Given the description of an element on the screen output the (x, y) to click on. 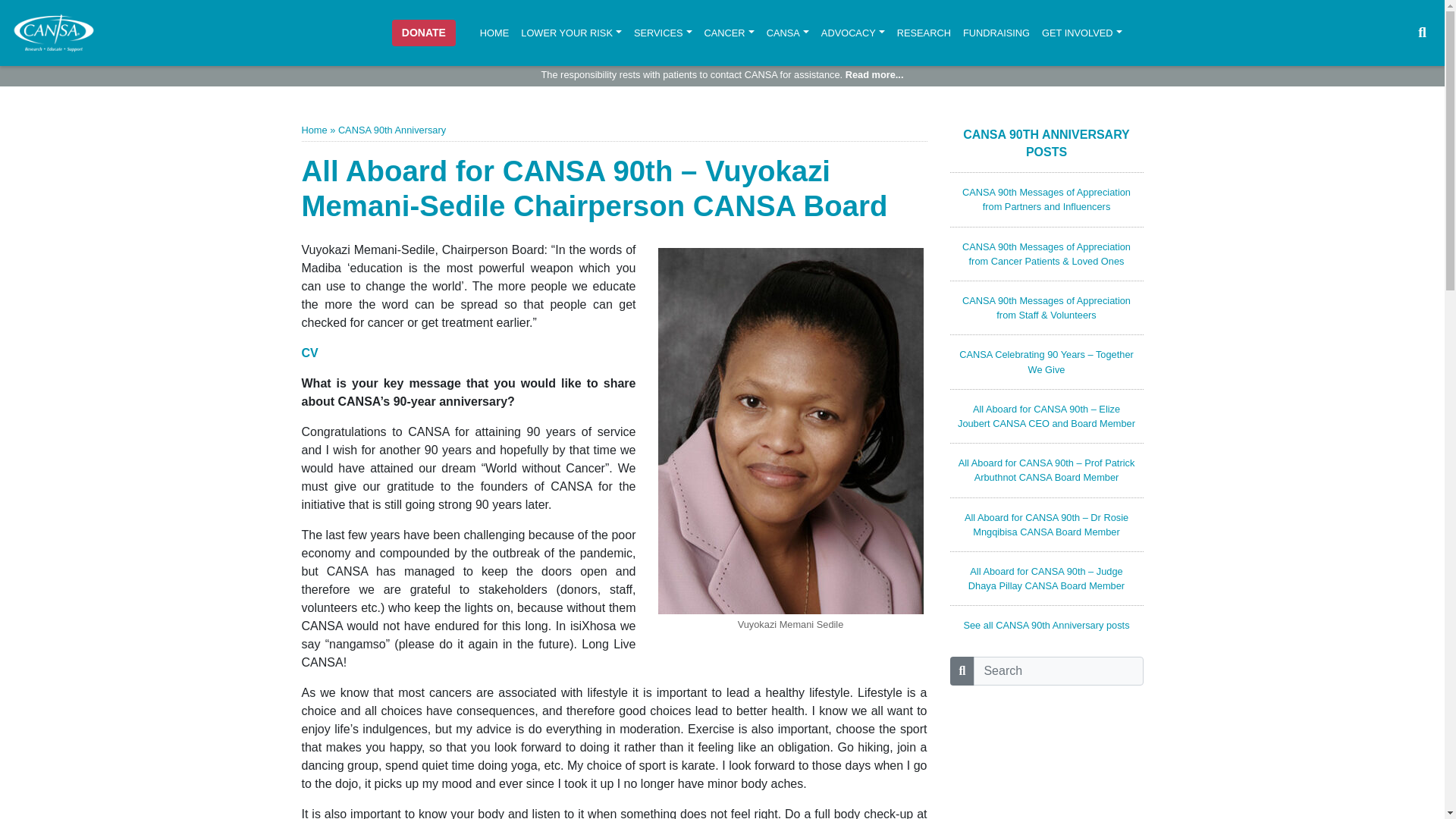
DONATE (423, 32)
SERVICES (662, 32)
HOME (494, 32)
LOWER YOUR RISK (571, 32)
